Given the description of an element on the screen output the (x, y) to click on. 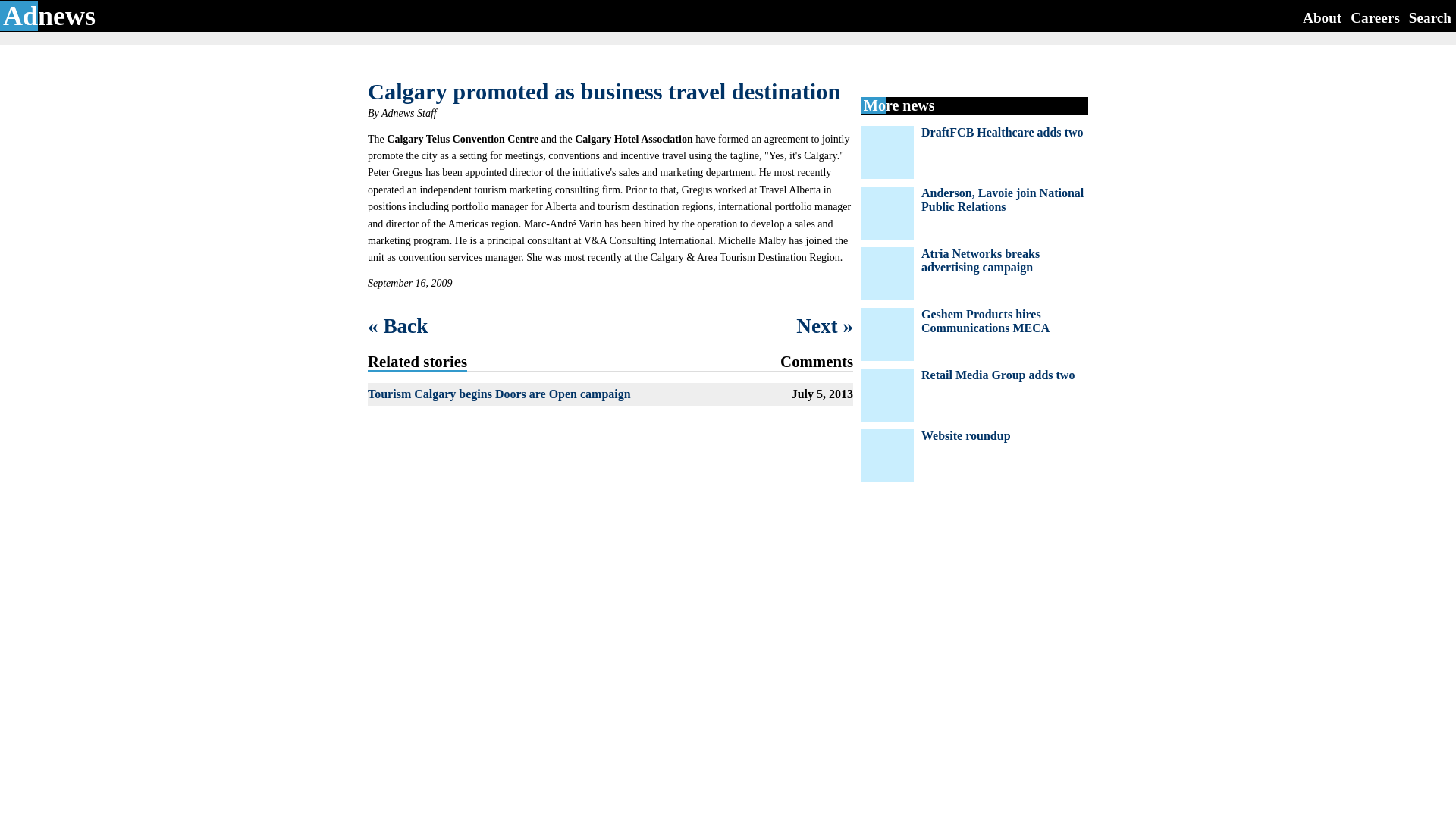
Careers (1375, 17)
Search (1430, 17)
Tourism Calgary begins Doors are Open campaign (499, 393)
DraftFCB Healthcare adds two (1002, 132)
Retail Media Group adds two (997, 374)
About (1321, 17)
Anderson, Lavoie join National Public Relations (1002, 199)
Geshem Products hires Communications MECA (985, 320)
Website roundup (965, 435)
Atria Networks breaks advertising campaign (980, 260)
